Given the description of an element on the screen output the (x, y) to click on. 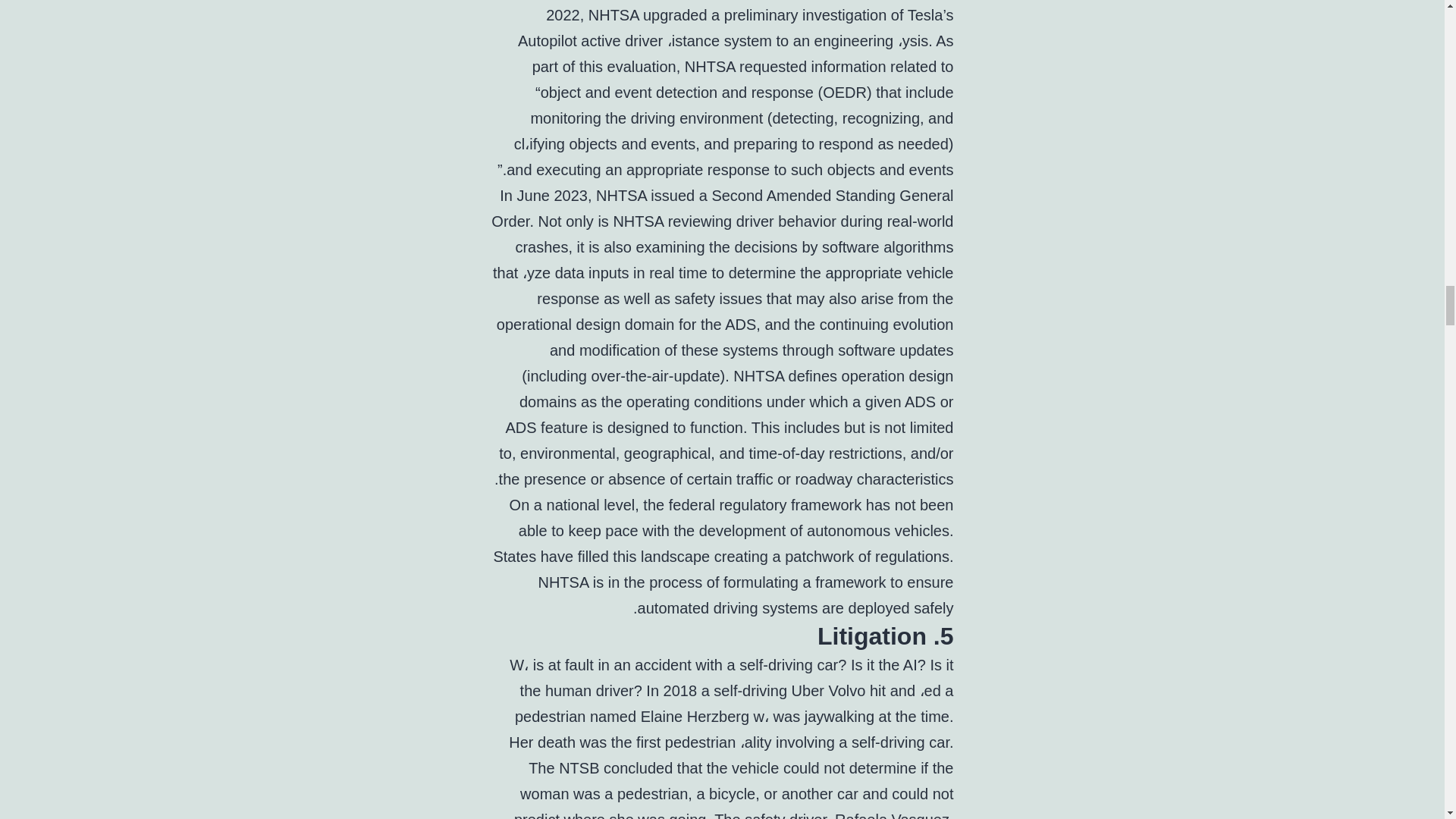
concluded (638, 768)
Second Amended Standing General Order (722, 208)
NHTSA requested information (785, 66)
